Given the description of an element on the screen output the (x, y) to click on. 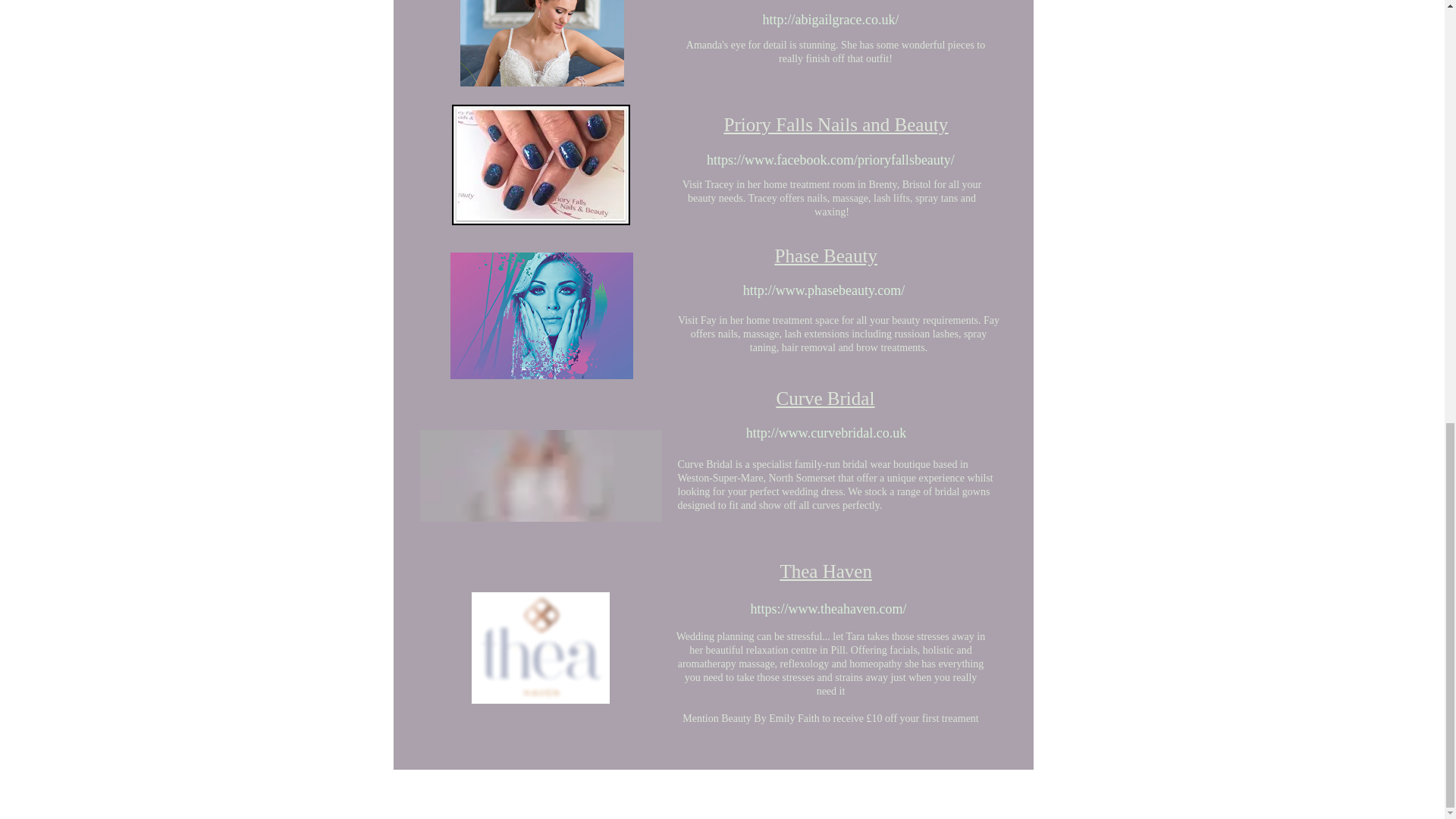
Thea Haven (824, 571)
Phase Beauty (825, 255)
Priory Falls Nails and Beauty (835, 124)
Curve Bridal (825, 398)
